Given the description of an element on the screen output the (x, y) to click on. 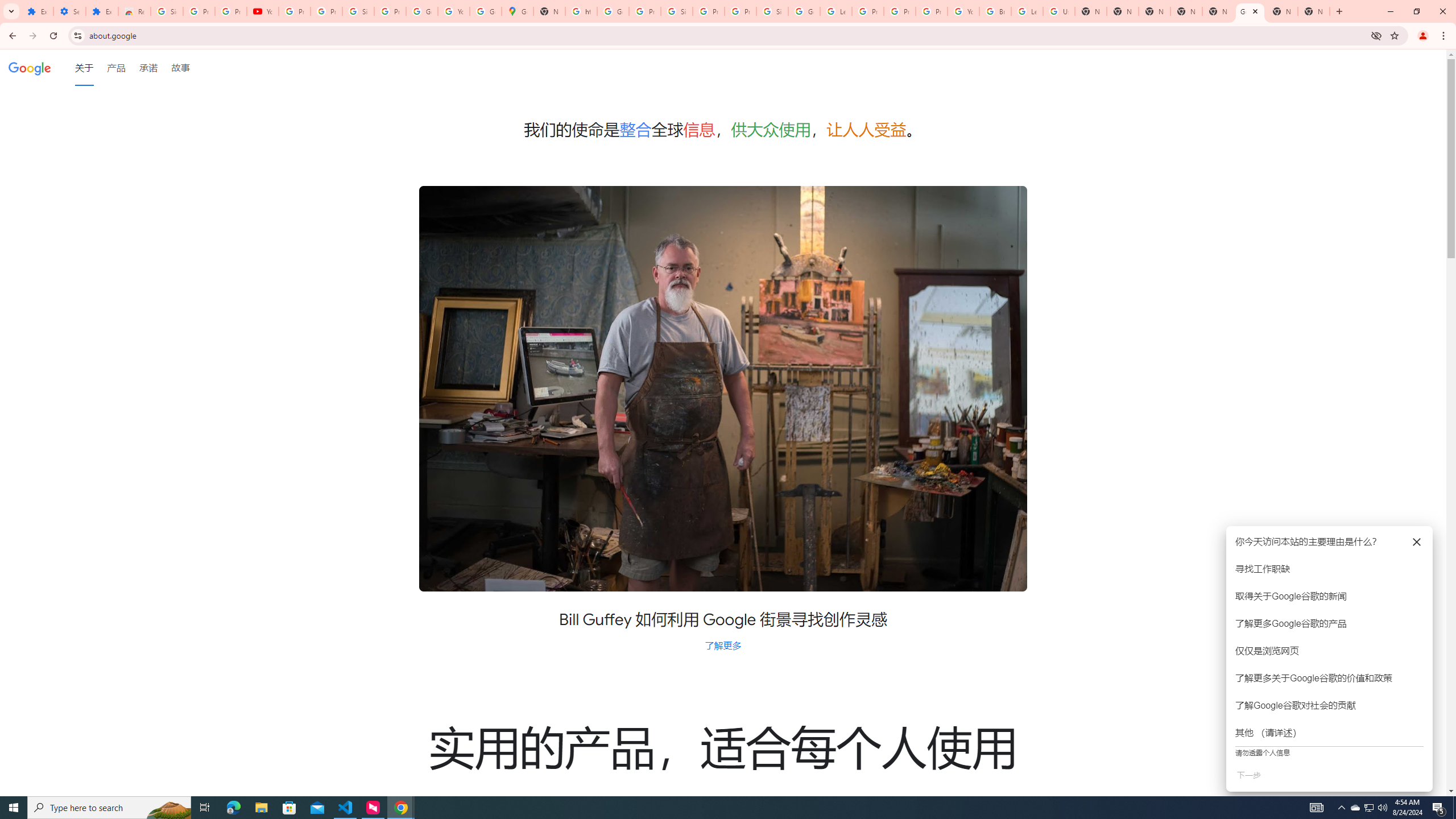
Sign in - Google Accounts (676, 11)
New Tab (1154, 11)
https://scholar.google.com/ (581, 11)
YouTube (453, 11)
Extensions (37, 11)
Sign in - Google Accounts (772, 11)
Close (1255, 11)
